Given the description of an element on the screen output the (x, y) to click on. 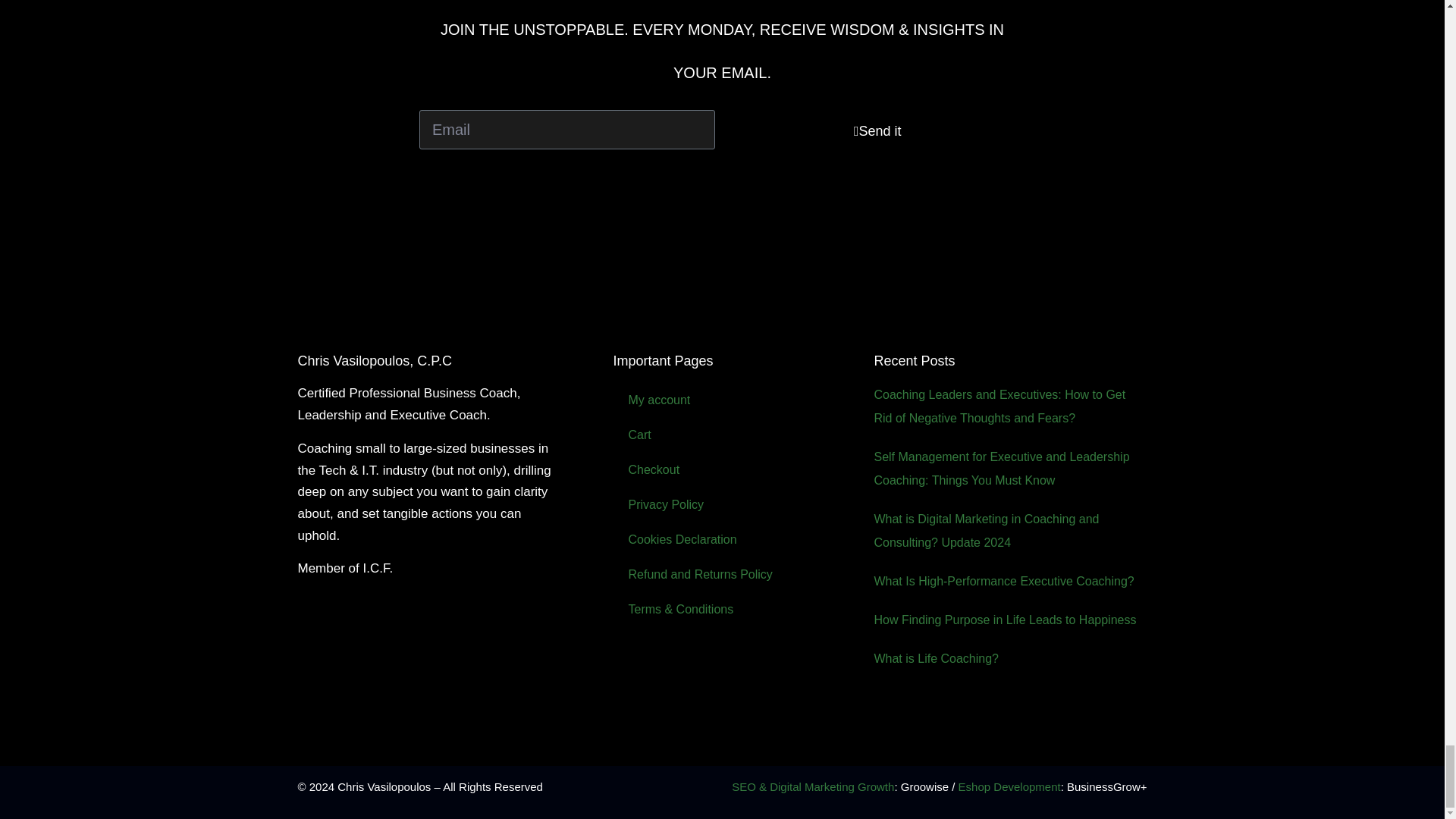
Send it (877, 131)
Refund and Returns Policy (735, 574)
Cookies Declaration (735, 539)
My account (735, 400)
Privacy Policy (735, 504)
Checkout (735, 469)
Cart (735, 434)
